Given the description of an element on the screen output the (x, y) to click on. 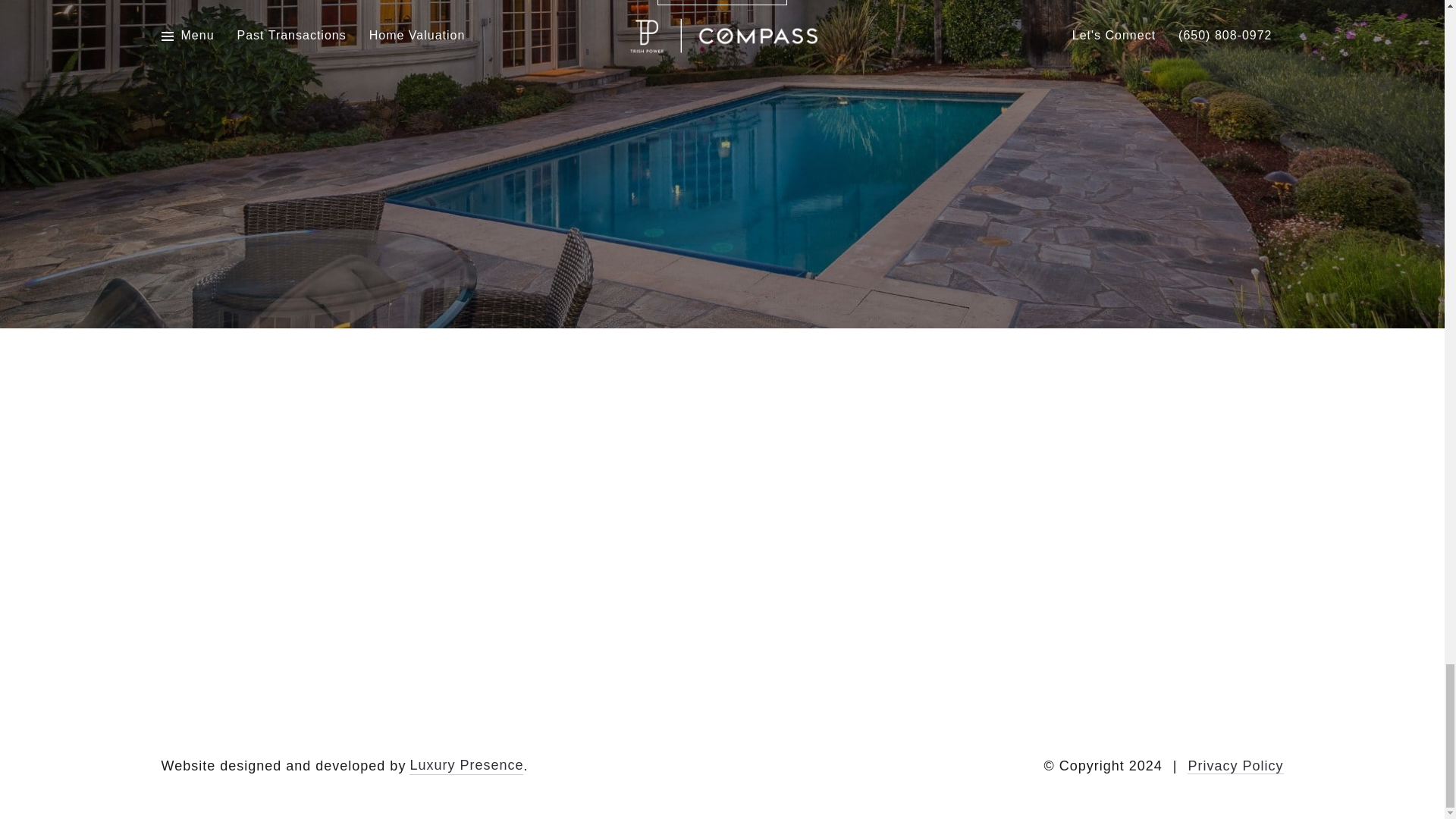
Let'S Connect (722, 2)
